Given the description of an element on the screen output the (x, y) to click on. 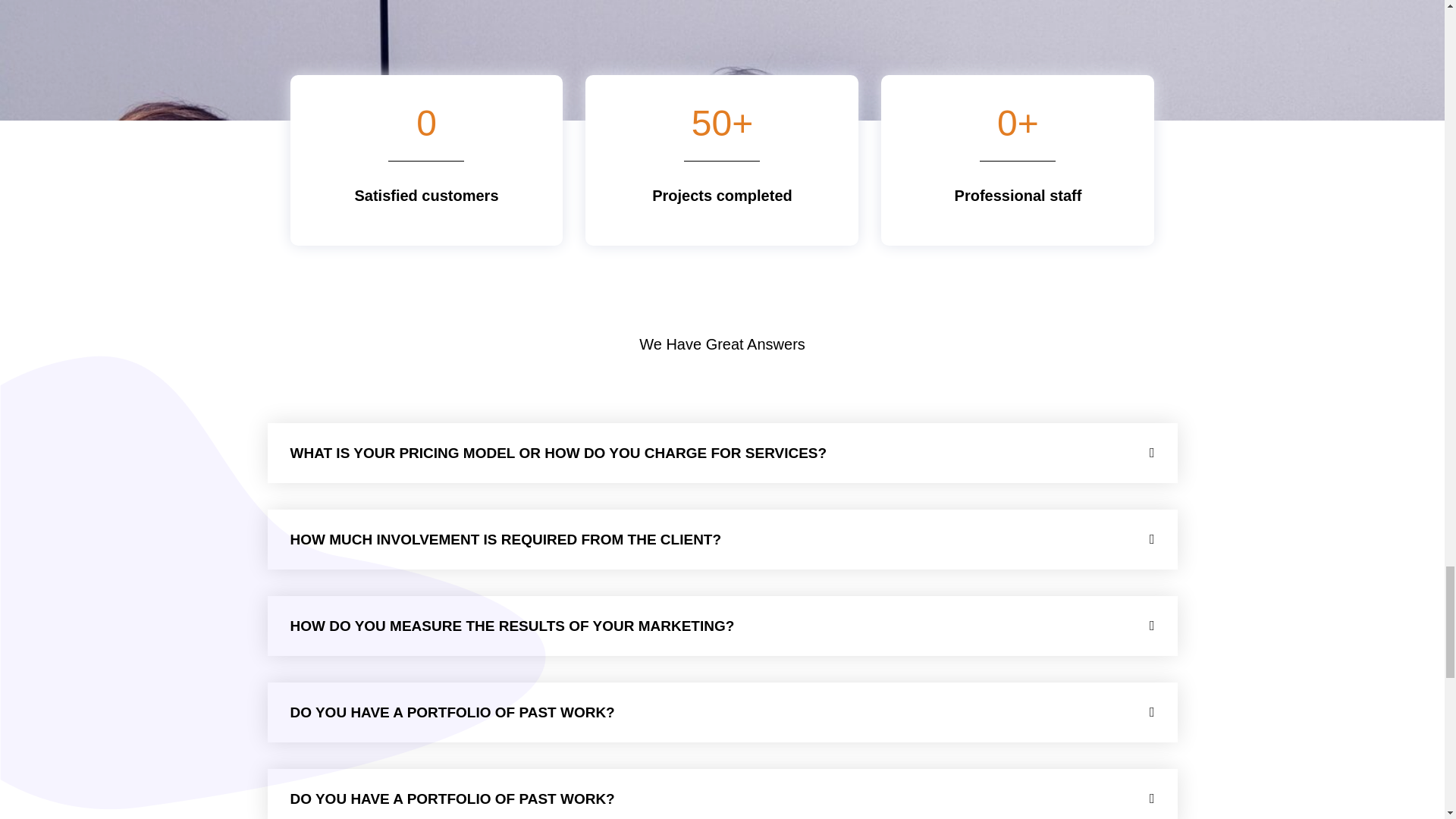
HOW DO YOU MEASURE THE RESULTS OF YOUR MARKETING? (511, 625)
HOW MUCH INVOLVEMENT IS REQUIRED FROM THE CLIENT? (504, 539)
